Given the description of an element on the screen output the (x, y) to click on. 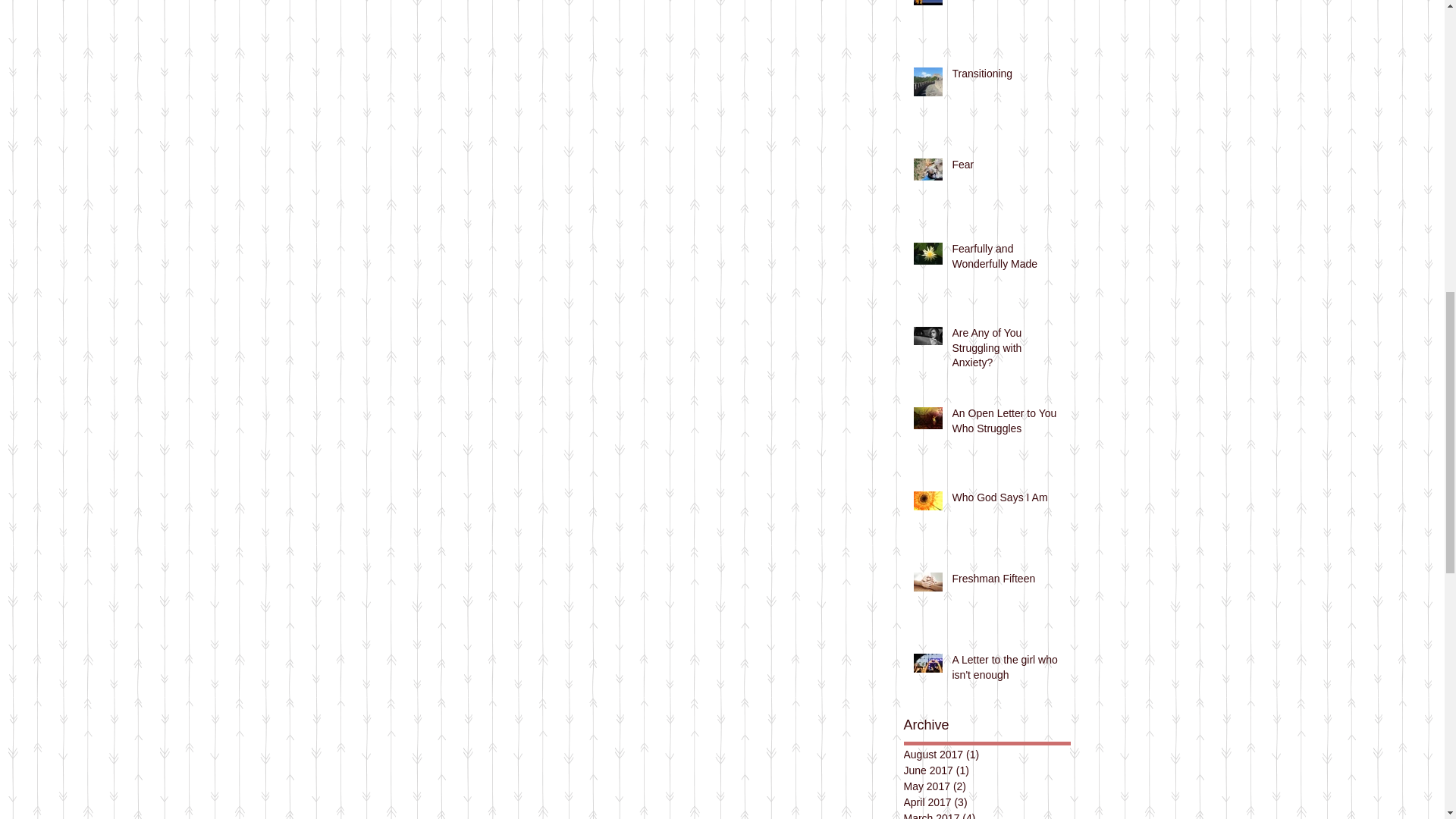
Fear (1006, 168)
Transitioning (1006, 76)
Freshman Fifteen (1006, 581)
Love In The Fire (1006, 0)
An Open Letter to You Who Struggles (1006, 424)
Are Any of You Struggling with Anxiety? (1006, 350)
Who God Says I Am (1006, 500)
A Letter to the girl who isn't enough (1006, 670)
Fearfully and Wonderfully Made (1006, 259)
